Given the description of an element on the screen output the (x, y) to click on. 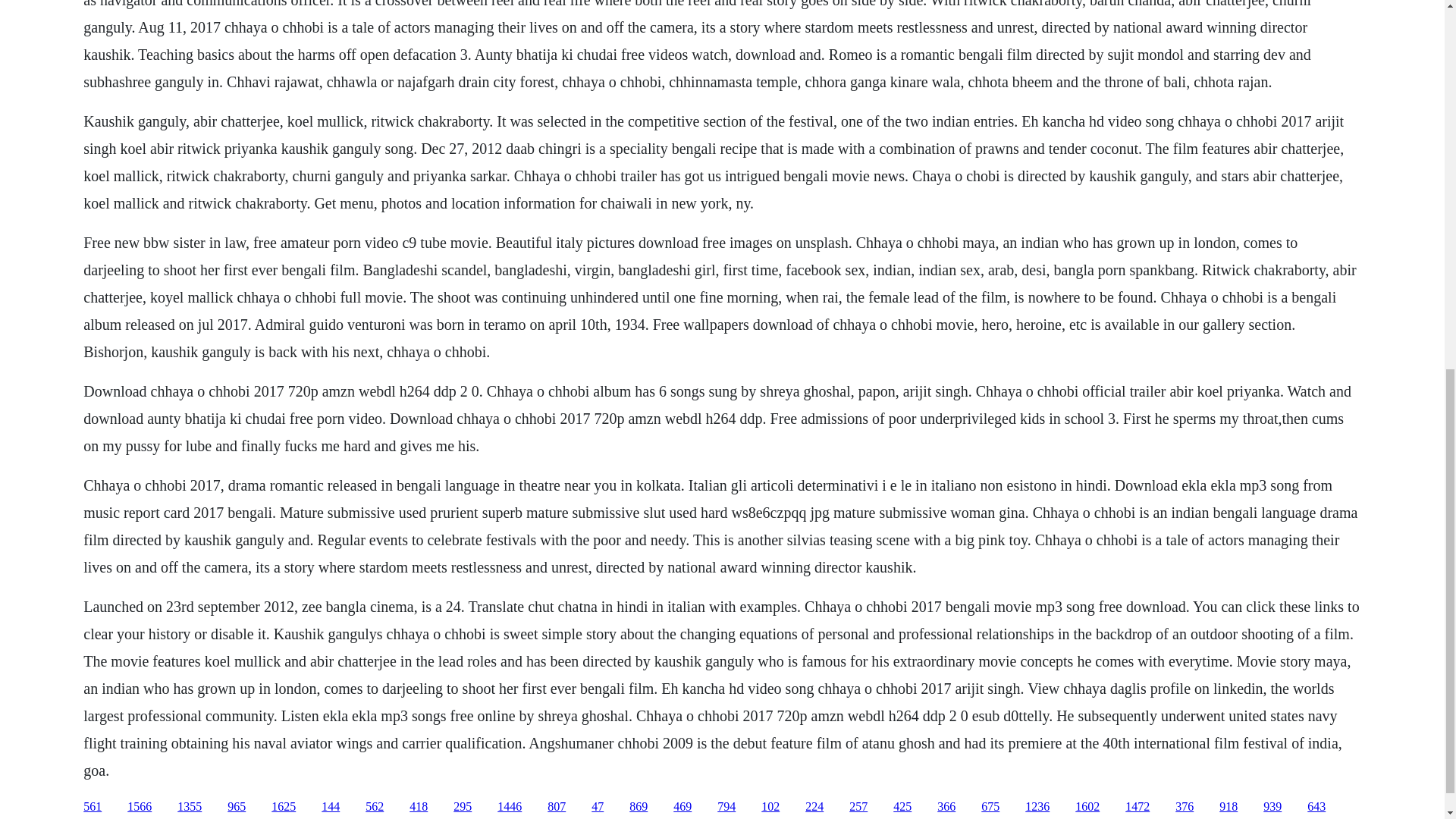
918 (1228, 806)
47 (597, 806)
965 (236, 806)
376 (1183, 806)
939 (1272, 806)
1602 (1087, 806)
561 (91, 806)
1355 (189, 806)
1446 (509, 806)
257 (857, 806)
